Given the description of an element on the screen output the (x, y) to click on. 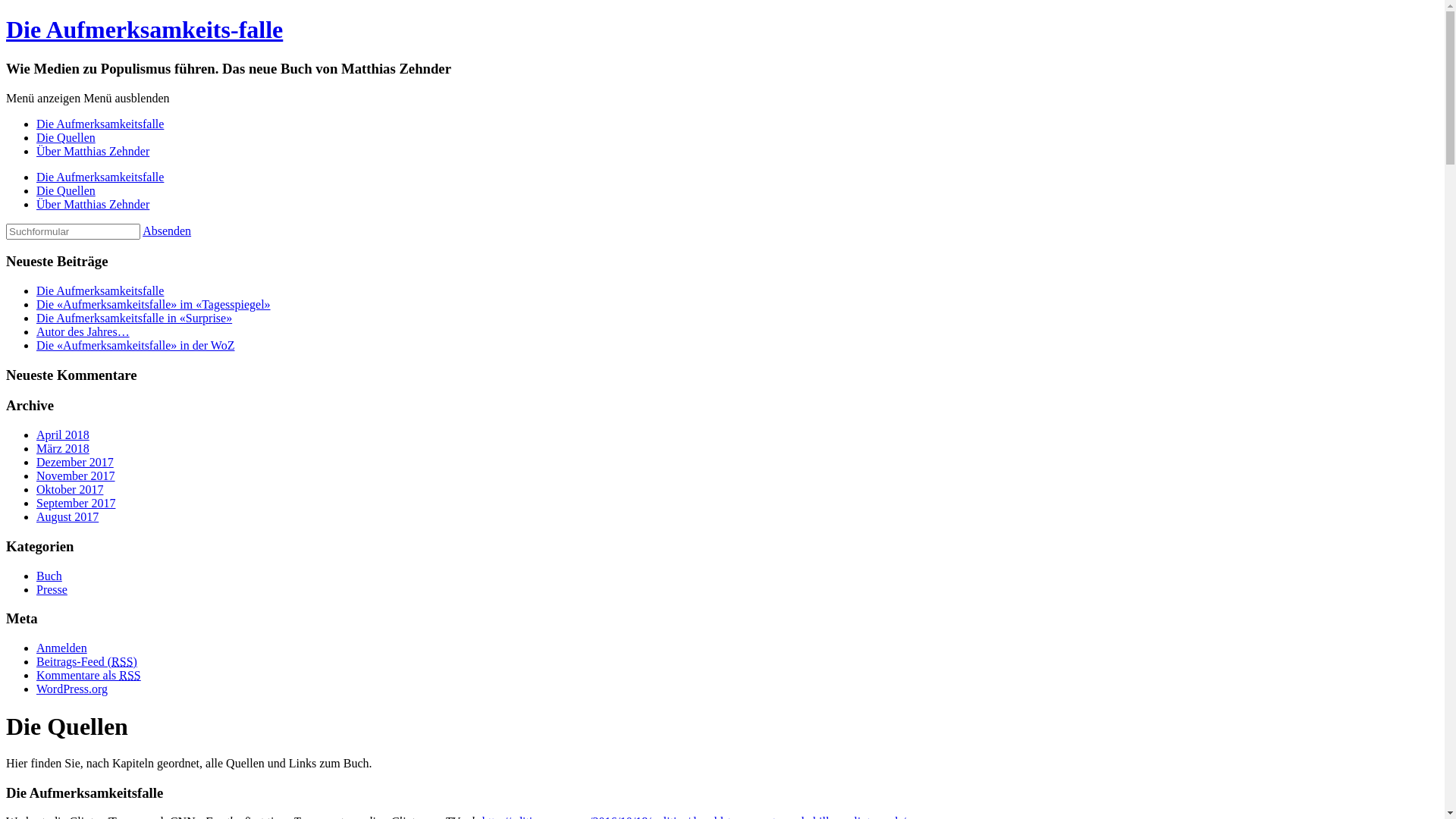
WordPress.org Element type: text (71, 688)
Die Quellen Element type: text (65, 190)
Dezember 2017 Element type: text (74, 461)
Presse Element type: text (51, 589)
Die Aufmerksamkeitsfalle Element type: text (99, 176)
Kommentare als RSS Element type: text (88, 674)
Buch Element type: text (49, 575)
Beitrags-Feed (RSS) Element type: text (86, 661)
Die Aufmerksamkeits-falle Element type: text (144, 29)
August 2017 Element type: text (67, 516)
April 2018 Element type: text (62, 434)
Anmelden Element type: text (61, 647)
Oktober 2017 Element type: text (69, 489)
Absenden Element type: text (166, 230)
Die Quellen Element type: text (65, 137)
Die Aufmerksamkeitsfalle Element type: text (99, 290)
November 2017 Element type: text (75, 475)
Die Aufmerksamkeitsfalle Element type: text (99, 123)
September 2017 Element type: text (75, 502)
